Given the description of an element on the screen output the (x, y) to click on. 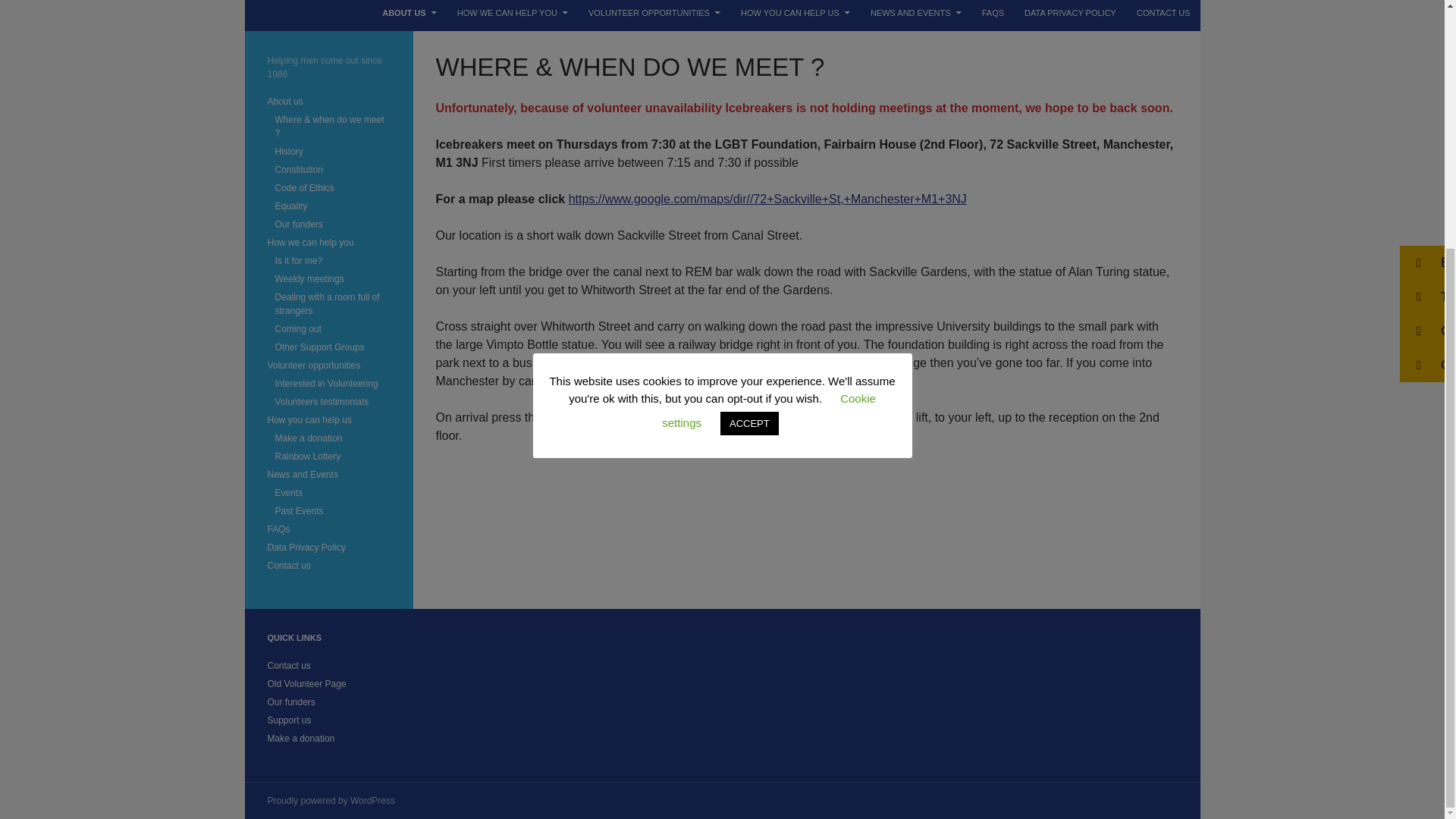
Constitution (298, 169)
Code of Ethics (304, 187)
ABOUT US (408, 15)
Equality (291, 205)
DATA PRIVACY POLICY (1069, 15)
HOW YOU CAN HELP US (795, 15)
About us (284, 101)
Our funders (298, 224)
History (288, 151)
NEWS AND EVENTS (916, 15)
CONTACT US (1162, 15)
FAQS (992, 15)
HOW WE CAN HELP YOU (512, 15)
VOLUNTEER OPPORTUNITIES (654, 15)
